Given the description of an element on the screen output the (x, y) to click on. 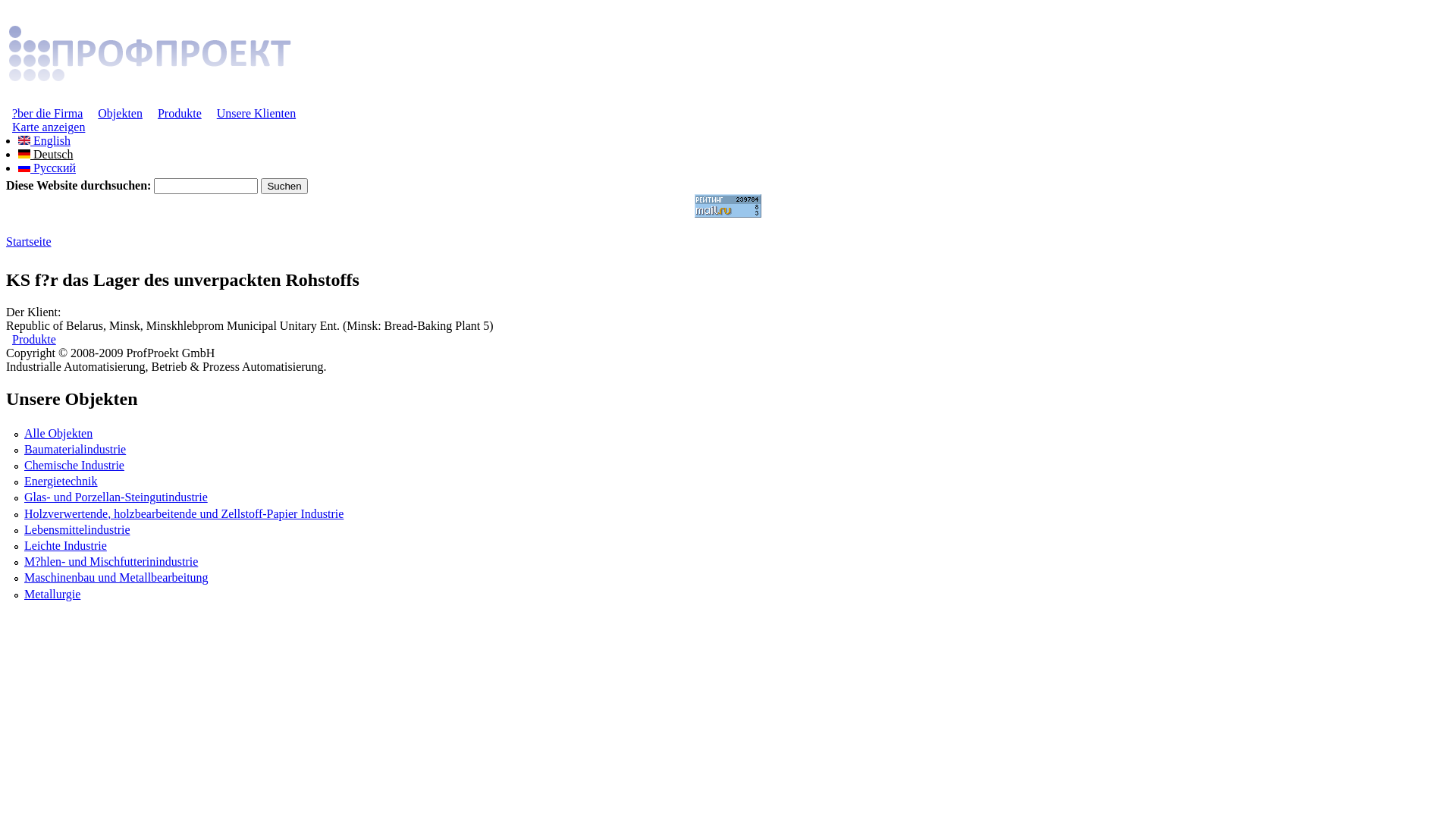
Leichte Industrie Element type: text (65, 545)
English Element type: hover (24, 139)
Maschinenbau und Metallbearbeitung Element type: text (116, 577)
Alle Objekten Element type: text (58, 432)
Produkte Element type: text (34, 338)
Karte anzeigen Element type: text (48, 126)
Startseite Element type: text (28, 241)
Unsere Klienten Element type: text (255, 112)
Lebensmittelindustrie Element type: text (77, 529)
Chemische Industrie Element type: text (74, 464)
English Element type: text (44, 140)
Deutsch Element type: hover (24, 153)
Baumaterialindustrie Element type: text (74, 448)
Produkte Element type: text (179, 112)
M?hlen- und Mischfutterinindustrie Element type: text (110, 561)
Die Begriffe eingeben nach denen gesucht werden soll. Element type: hover (205, 186)
Energietechnik Element type: text (60, 480)
Objekten Element type: text (119, 112)
Glas- und Porzellan-Steingutindustrie Element type: text (115, 496)
Suchen Element type: text (283, 186)
Metallurgie Element type: text (52, 593)
?ber die Firma Element type: text (47, 112)
Deutsch Element type: text (45, 153)
